Given the description of an element on the screen output the (x, y) to click on. 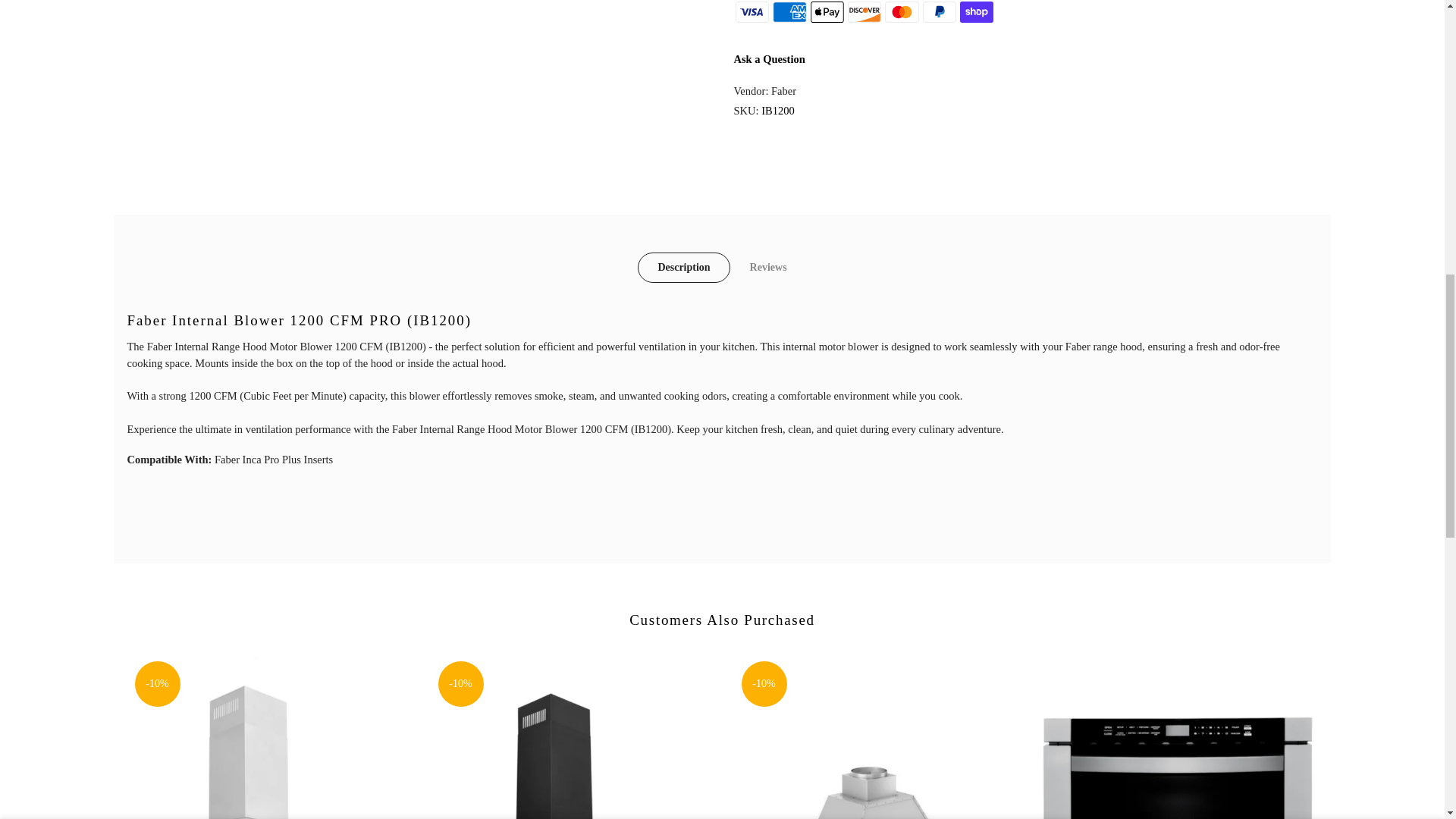
Ask a Question (769, 59)
Description (683, 267)
Faber (783, 91)
Faber (783, 91)
Reviews (768, 267)
1 (1153, 35)
